Given the description of an element on the screen output the (x, y) to click on. 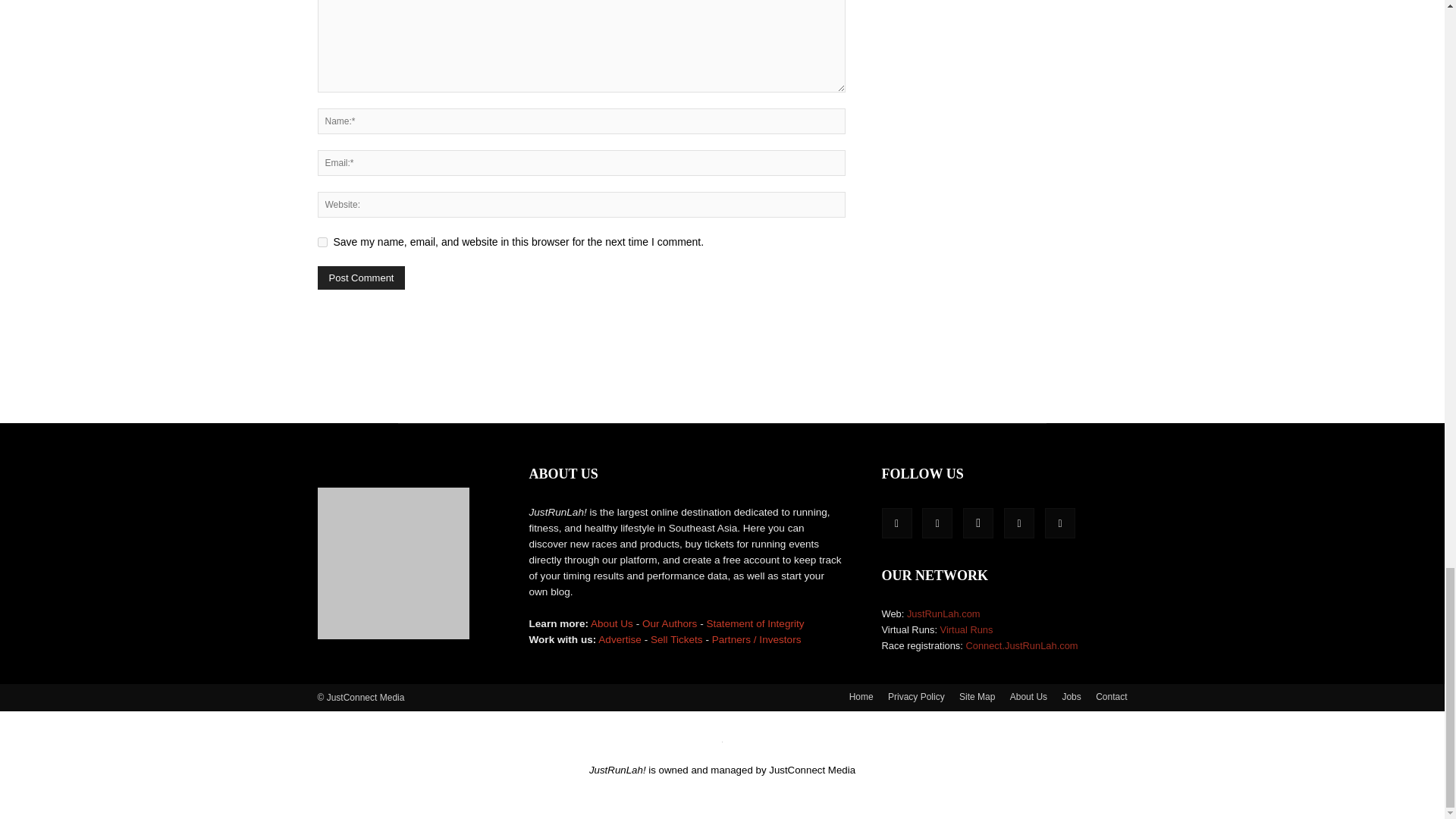
yes (321, 242)
Post Comment (360, 277)
